Given the description of an element on the screen output the (x, y) to click on. 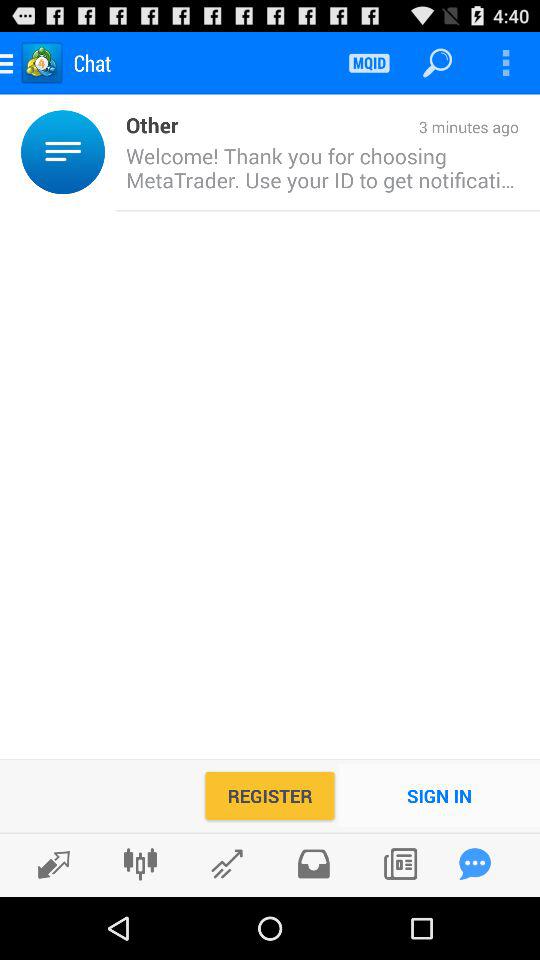
choose the icon below the chat (110, 152)
